Given the description of an element on the screen output the (x, y) to click on. 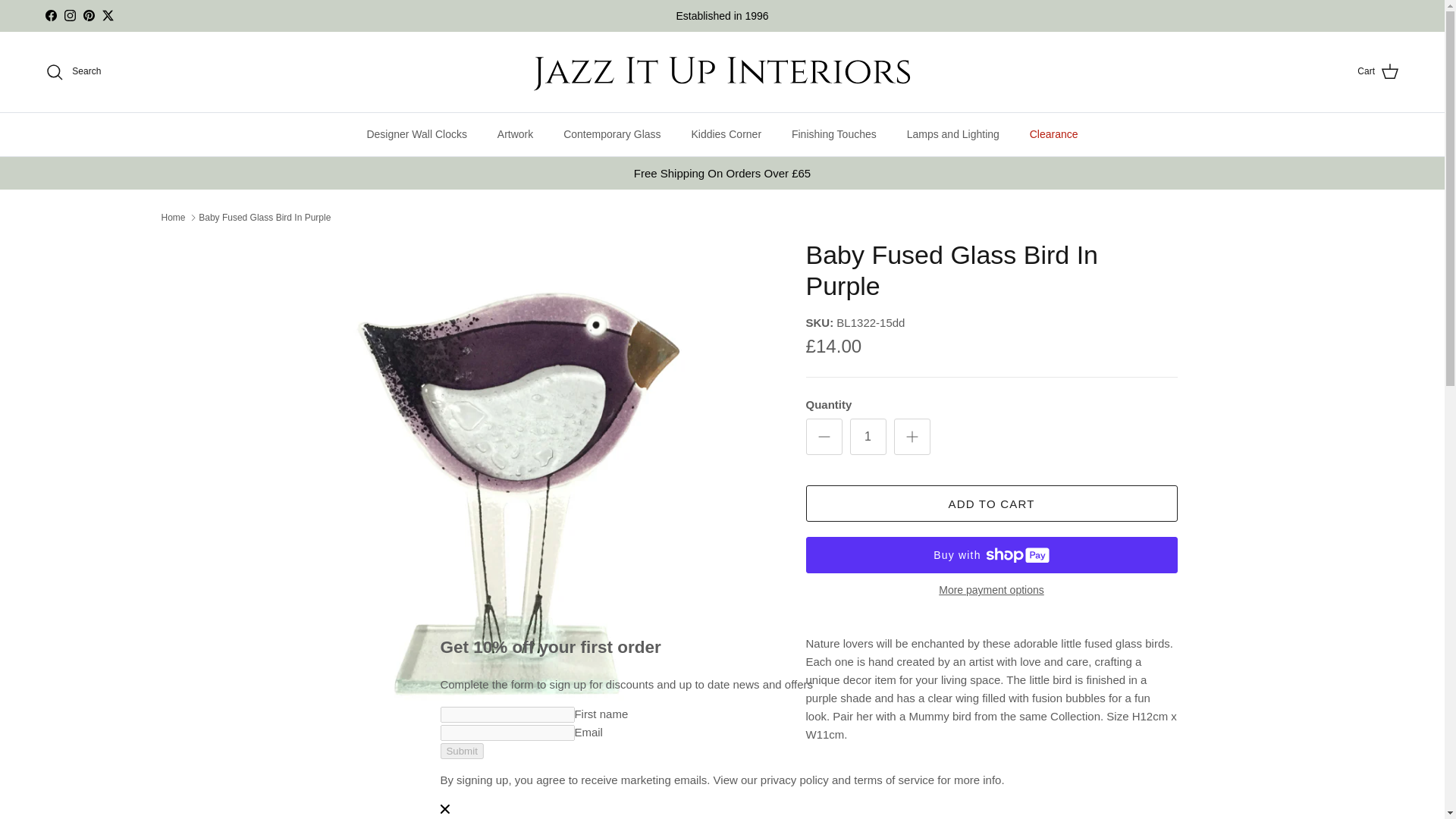
Instagram (69, 15)
Jazz It Up Interiors on Facebook (50, 15)
Designer Wall Clocks (416, 134)
Contemporary Glass (612, 134)
Jazz It Up Interiors on Twitter (107, 15)
Facebook (50, 15)
Search (72, 72)
Twitter (107, 15)
Jazz It Up Interiors (721, 71)
Cart (1377, 71)
Artwork (515, 134)
Jazz It Up Interiors on Pinterest (88, 15)
1 (866, 436)
Pinterest (88, 15)
Jazz It Up Interiors on Instagram (69, 15)
